Given the description of an element on the screen output the (x, y) to click on. 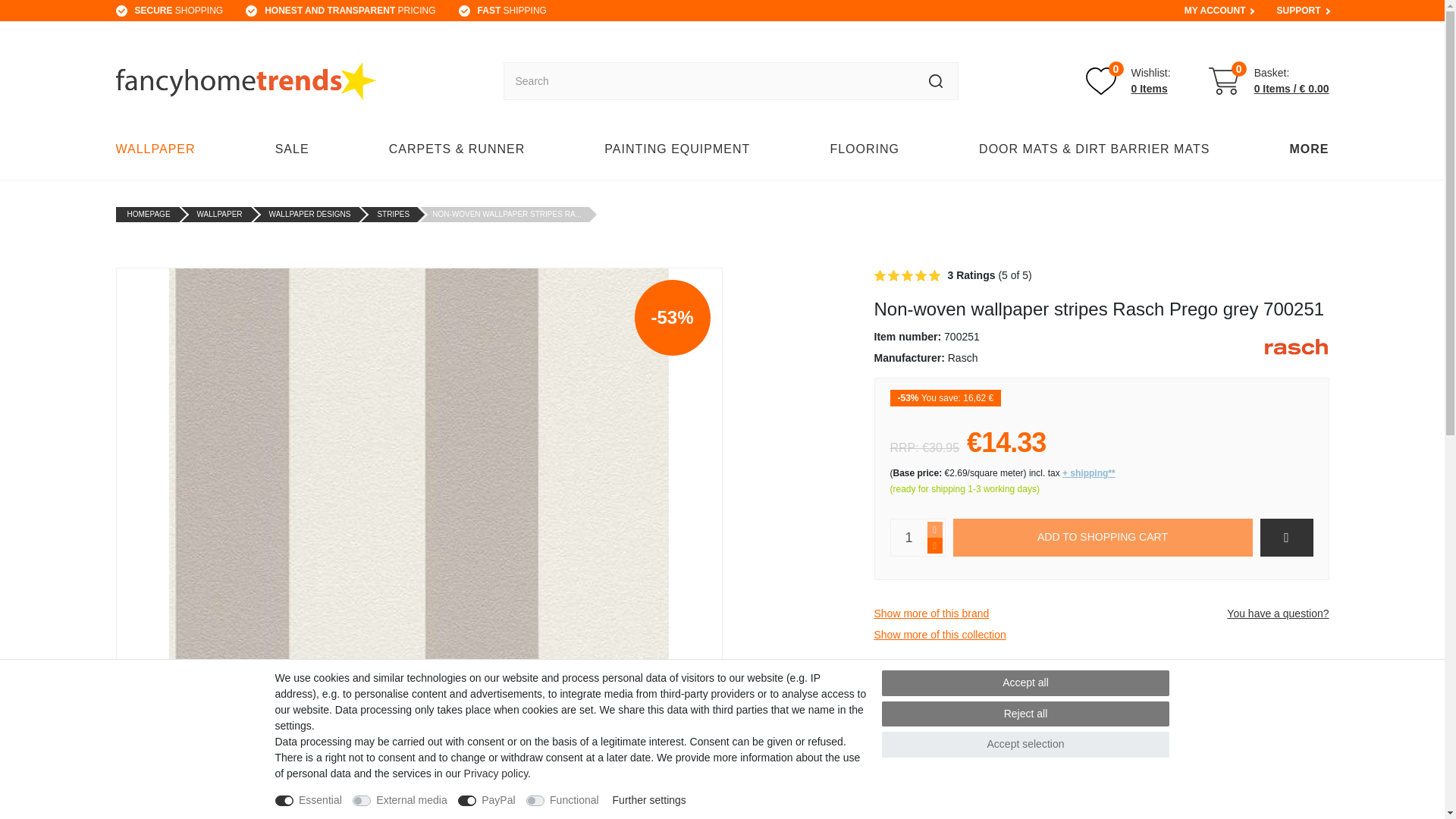
Maximum order quantity:  (934, 529)
PAINTING EQUIPMENT (676, 148)
WALLPAPER (219, 214)
WALLPAPER DESIGNS (309, 214)
HOMEPAGE (149, 214)
Show more of this brand (930, 613)
STRIPES (393, 214)
SUPPORT (1298, 10)
FLOORING (864, 148)
WALLPAPER (159, 148)
1 (907, 537)
ADD TO SHOPPING CART (1128, 81)
FAST SHIPPING (1102, 537)
